Given the description of an element on the screen output the (x, y) to click on. 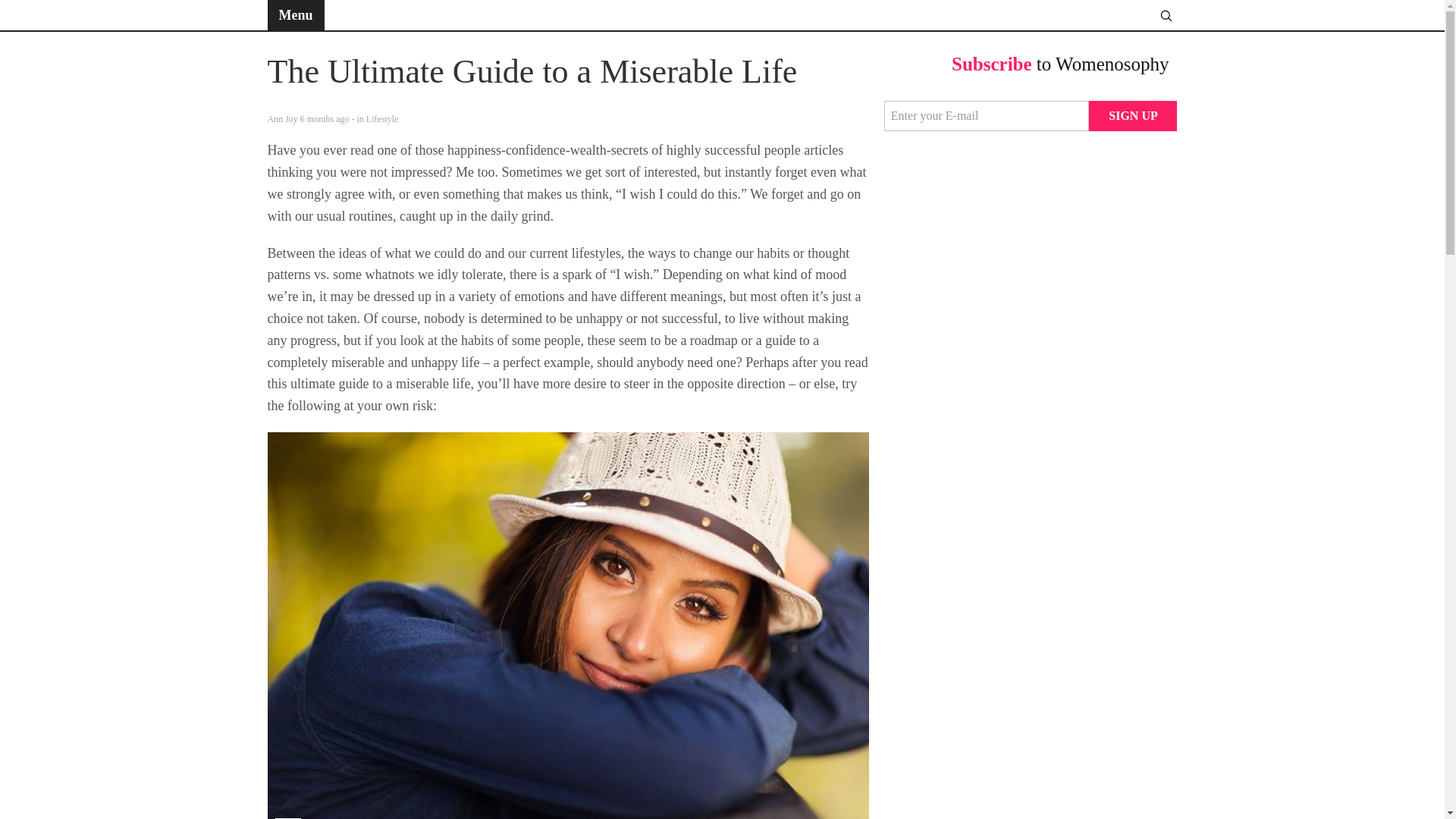
Lifestyle (382, 118)
SIGN UP (1132, 115)
Menu (294, 14)
Enter your E-mail (986, 115)
SIGN UP (1132, 115)
